Given the description of an element on the screen output the (x, y) to click on. 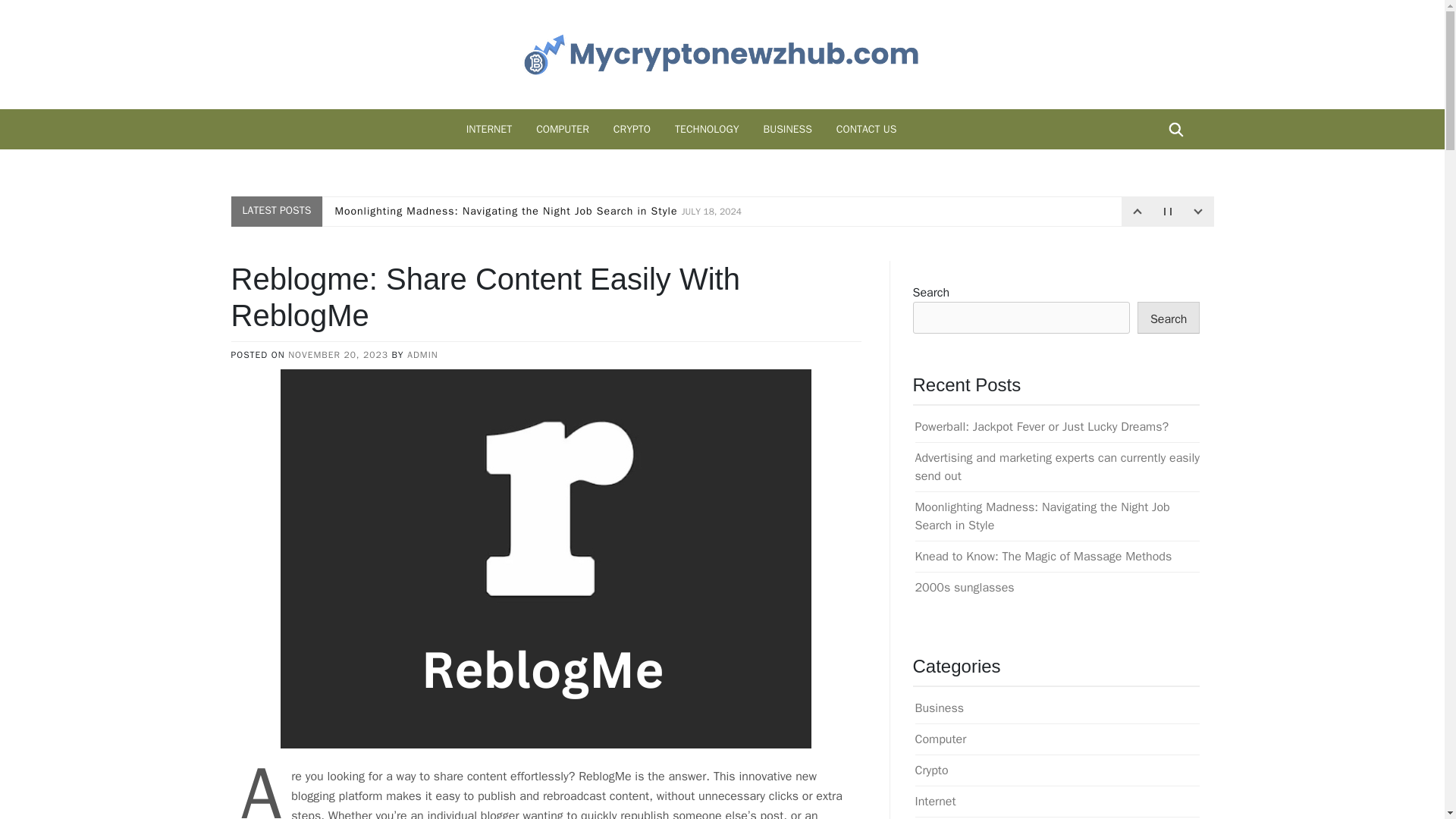
BUSINESS (787, 128)
NOVEMBER 20, 2023 (338, 354)
TECHNOLOGY (706, 128)
COMPUTER (562, 128)
CONTACT US (866, 128)
Powerball: Jackpot Fever or Just Lucky Dreams? (1041, 426)
ADMIN (422, 354)
Knead to Know: The Magic of Massage Methods (1043, 556)
Business (938, 708)
cryptonewzhub.com (462, 107)
CRYPTO (631, 128)
Search (1168, 317)
INTERNET (489, 128)
